Given the description of an element on the screen output the (x, y) to click on. 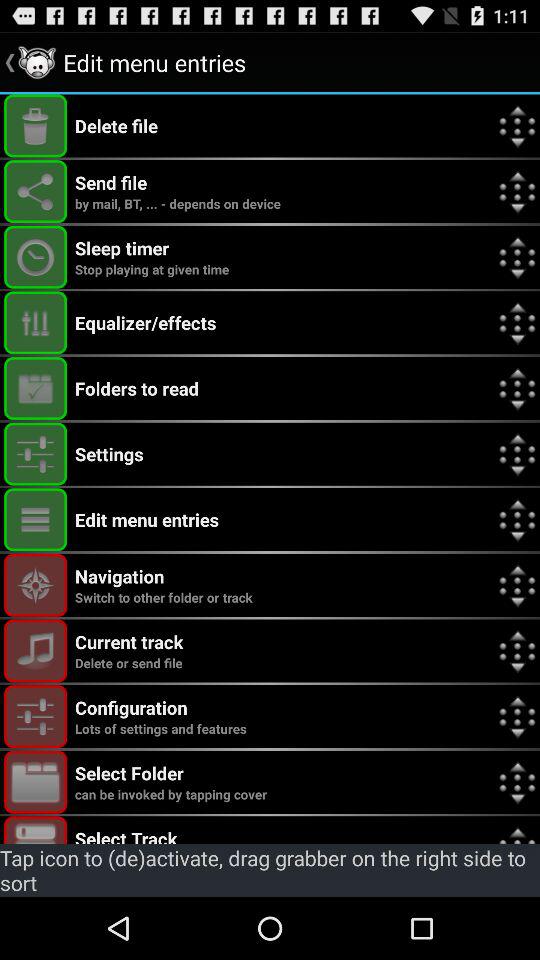
click the delete option (35, 125)
